Given the description of an element on the screen output the (x, y) to click on. 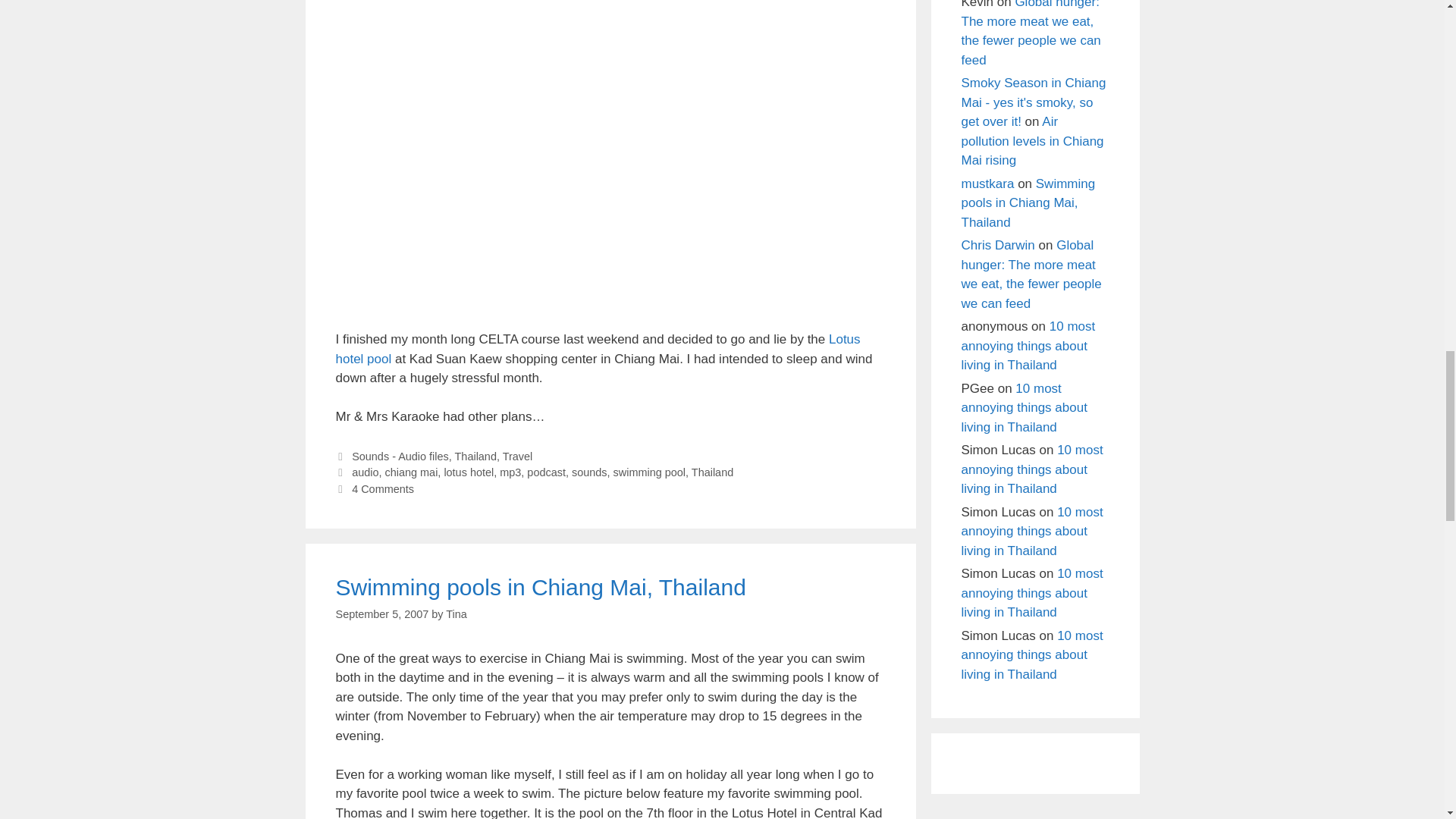
Lotus swimming pool, Chiang Mai, Thailand (609, 319)
6:48 pm (381, 613)
View all posts by Tina (456, 613)
Lotus hotel pool (597, 349)
